Given the description of an element on the screen output the (x, y) to click on. 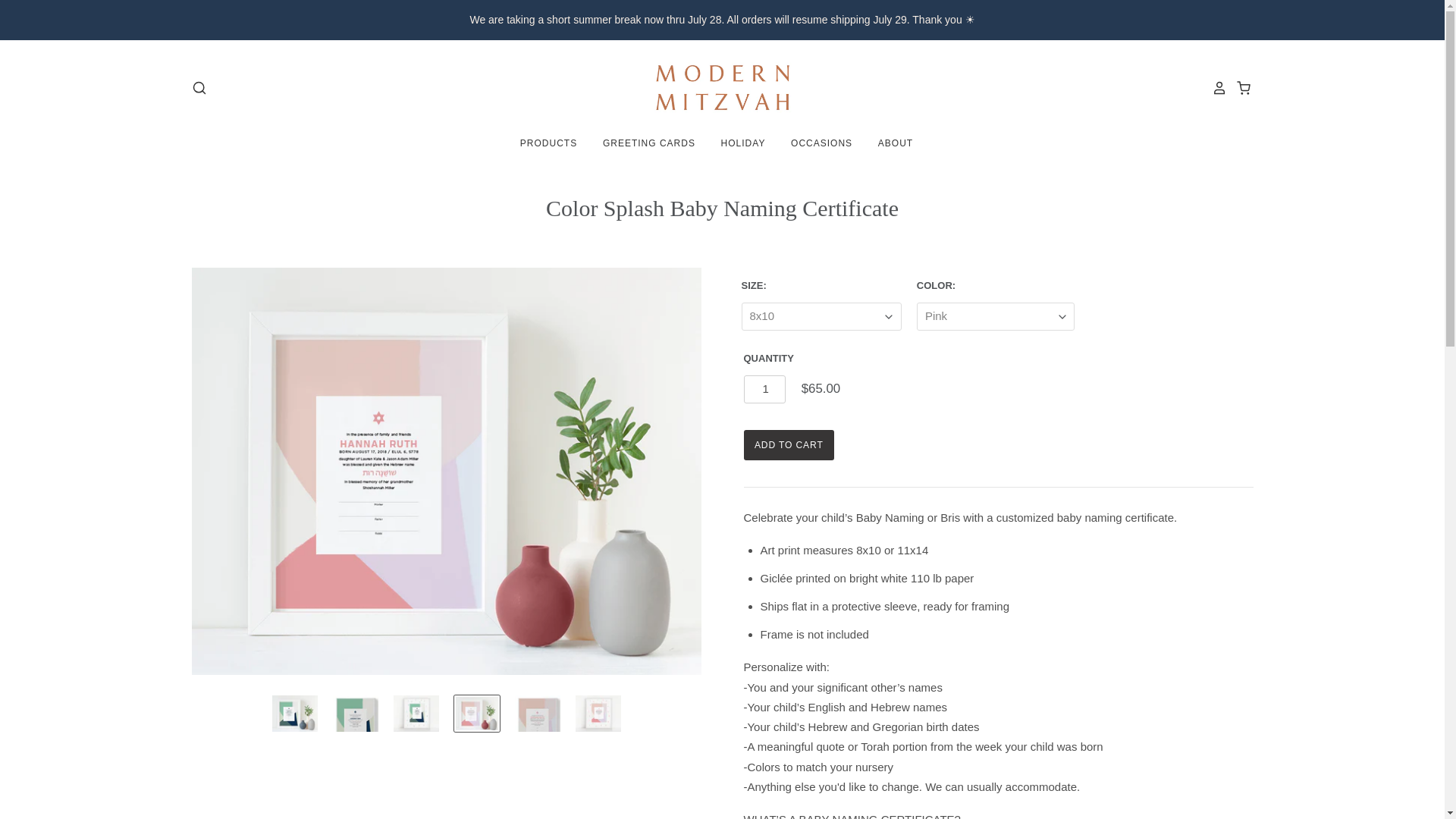
1 (763, 389)
Add to cart (788, 444)
